Given the description of an element on the screen output the (x, y) to click on. 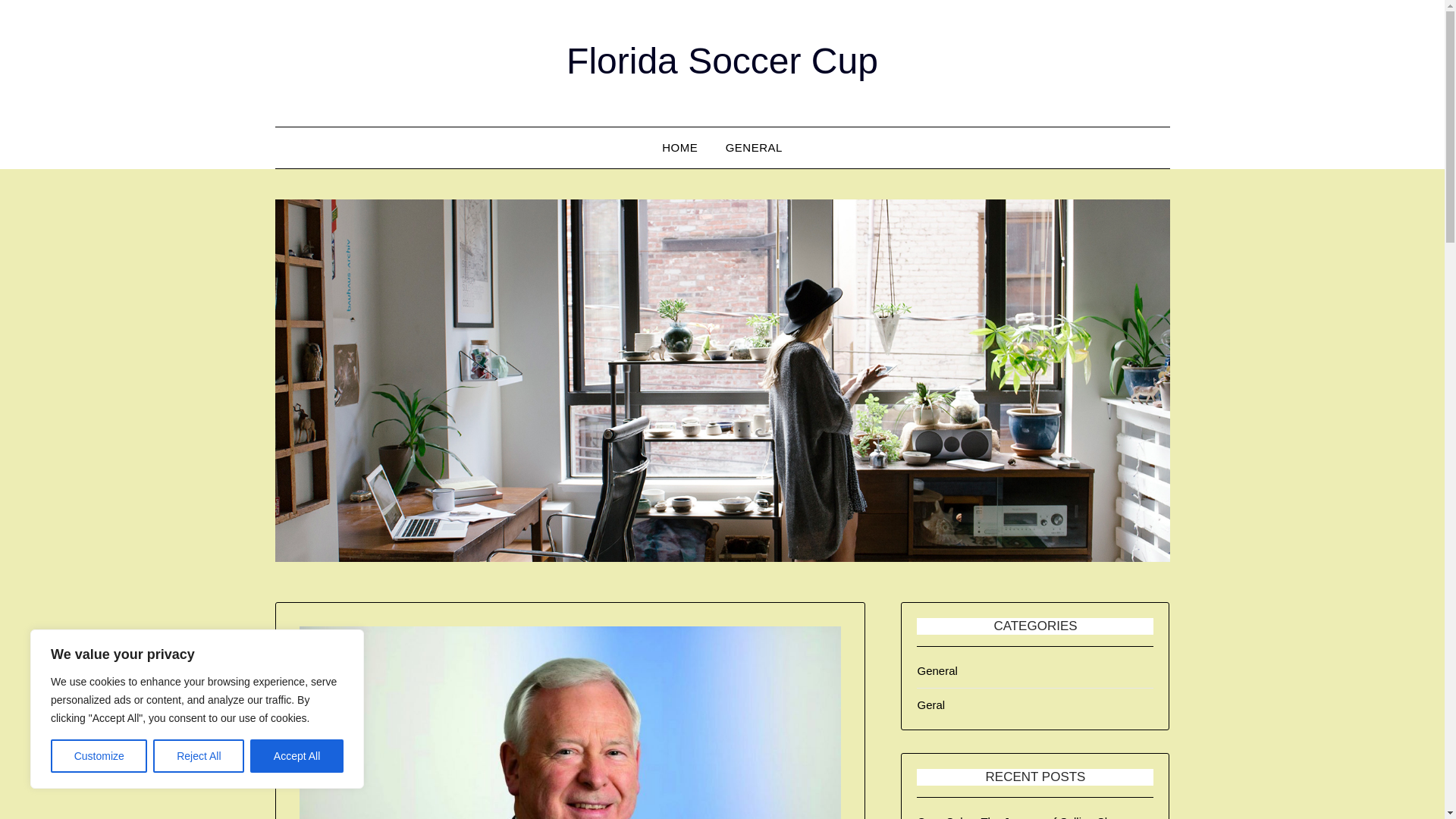
General (936, 670)
Customize (98, 756)
HOME (679, 147)
Cozy Sales: The Journey of Selling Sherpa Blankets Online (1025, 816)
Accept All (296, 756)
GENERAL (753, 147)
Geral (930, 704)
Florida Soccer Cup (721, 60)
Reject All (198, 756)
